Given the description of an element on the screen output the (x, y) to click on. 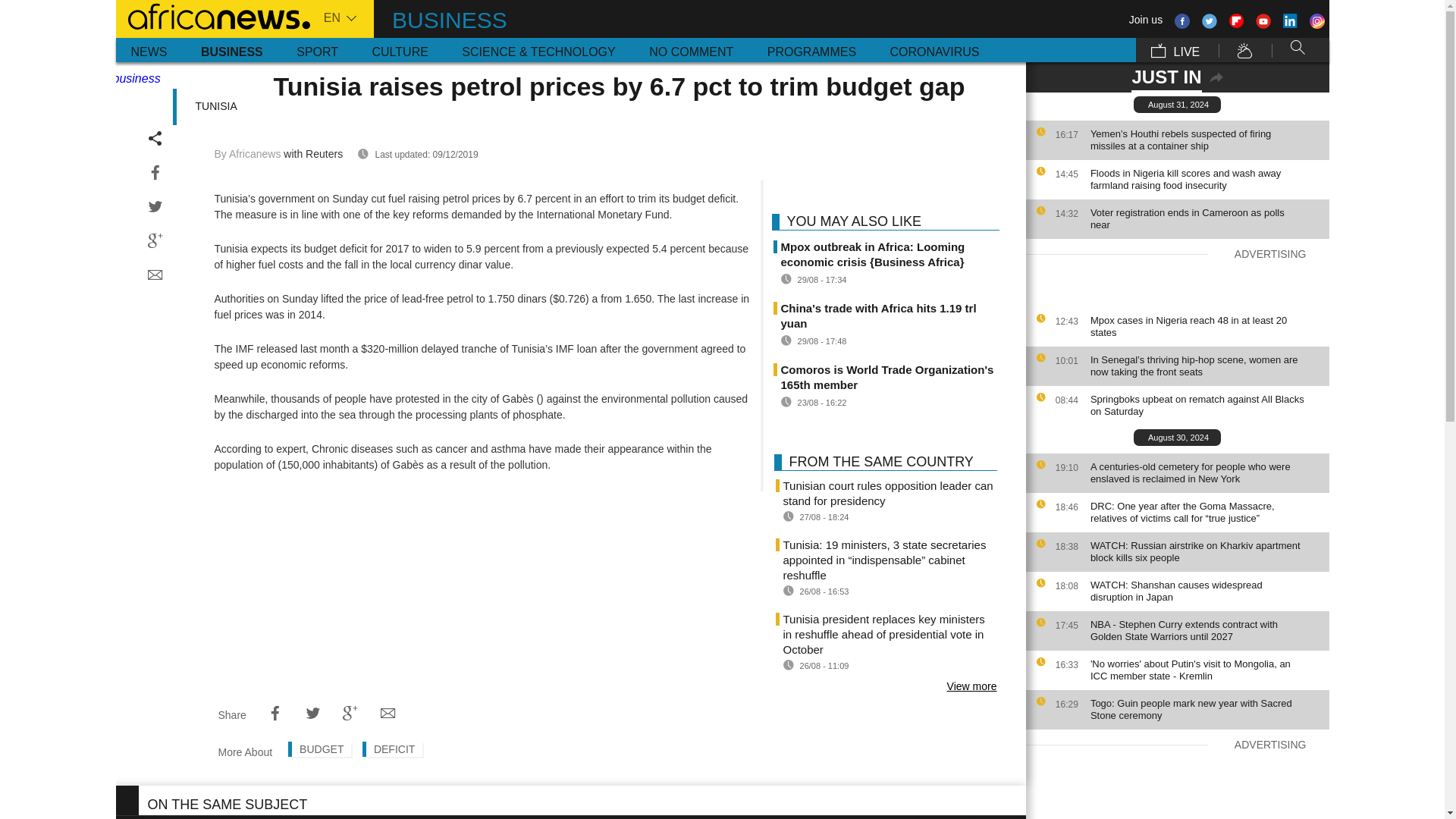
News (148, 49)
Sport (317, 49)
LIVE (1174, 49)
PROGRAMMES (811, 49)
Voter registration ends in Cameroon as polls near (1206, 218)
CULTURE (399, 49)
NEWS (148, 49)
Coronavirus (934, 49)
Africanews (211, 15)
